Given the description of an element on the screen output the (x, y) to click on. 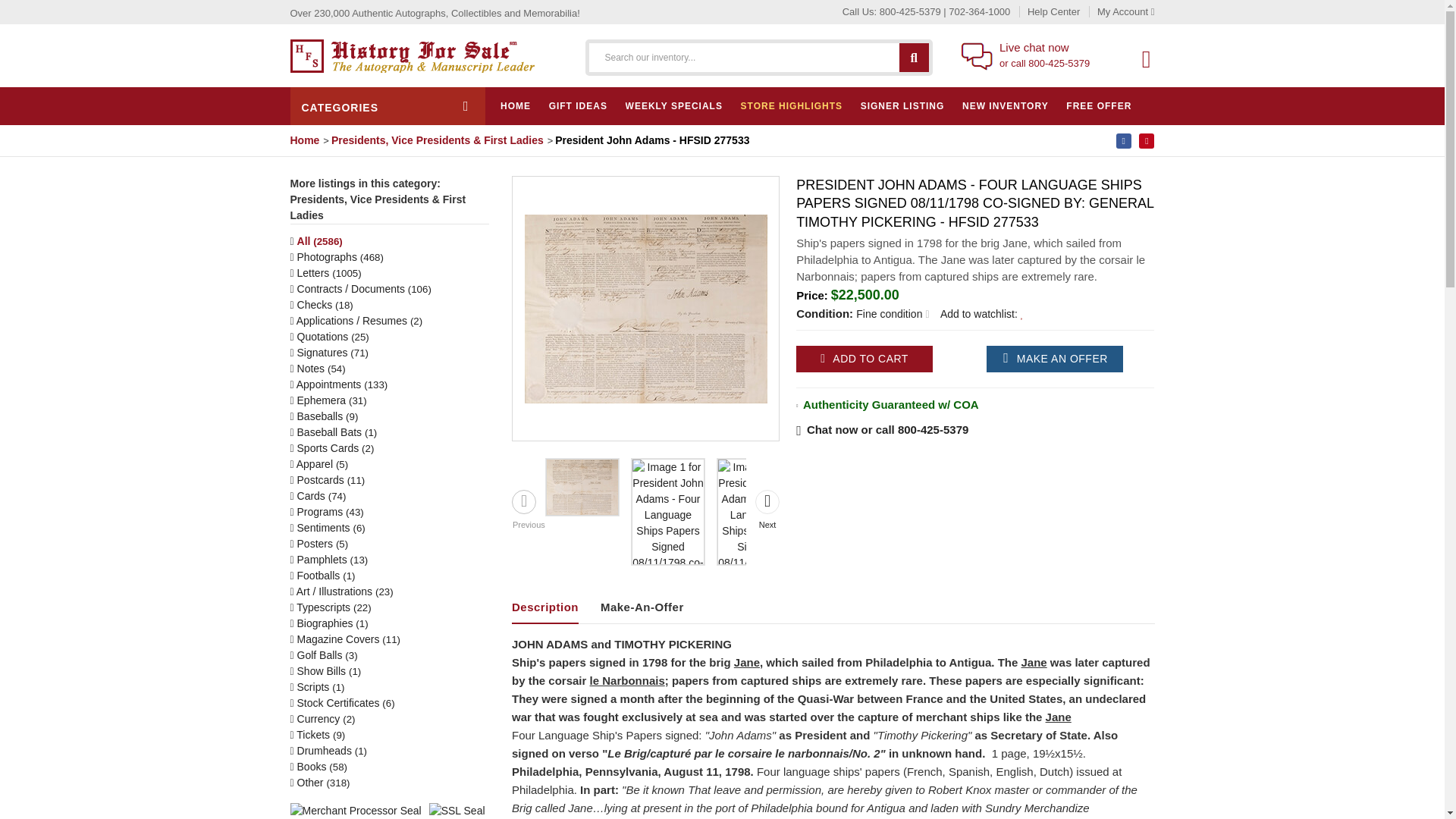
Search our inventory (913, 56)
Category Menu (386, 105)
Help and FAQ Center (1046, 11)
